Given the description of an element on the screen output the (x, y) to click on. 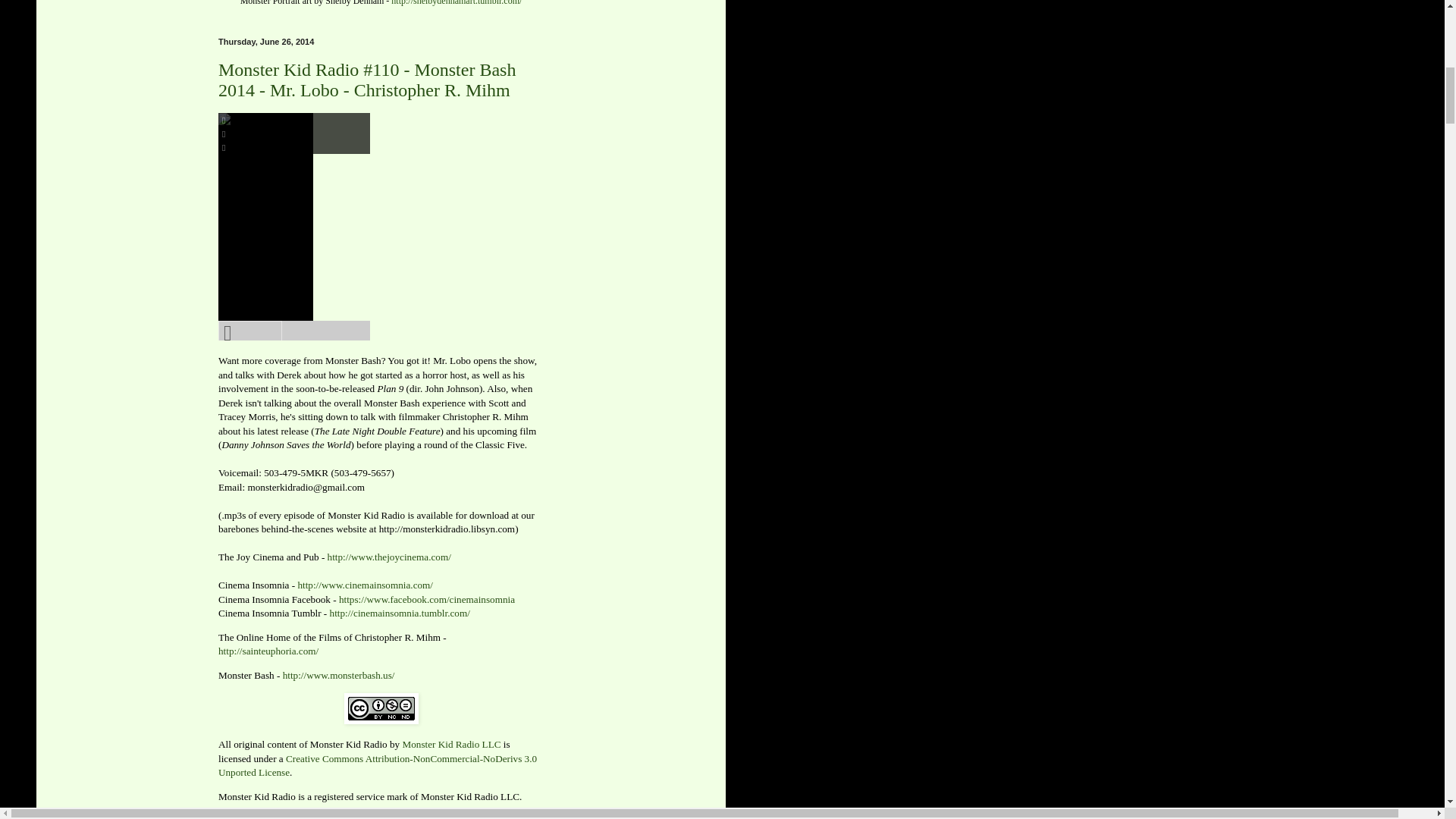
Monster Kid Radio LLC (450, 744)
